Given the description of an element on the screen output the (x, y) to click on. 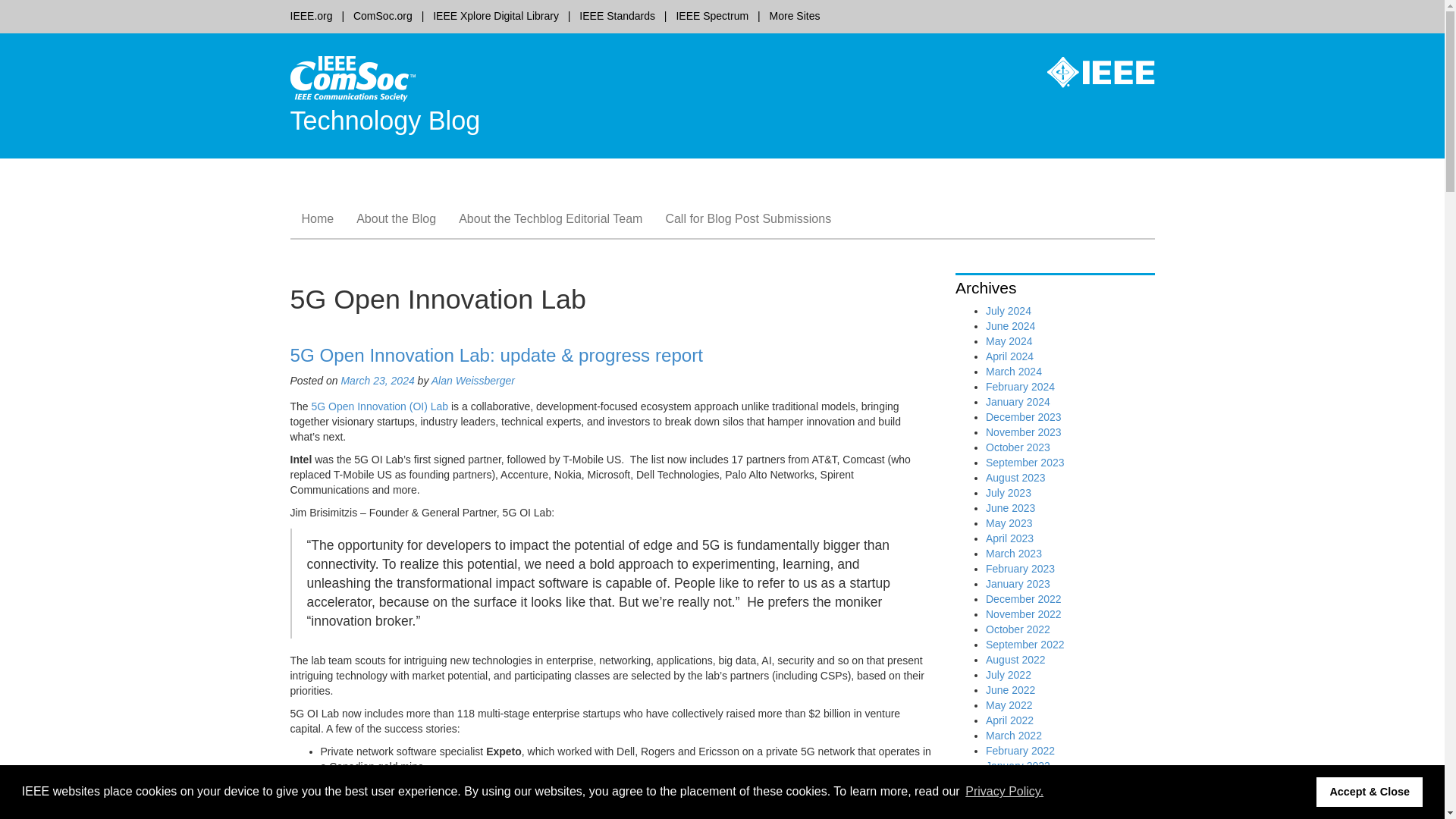
About the Techblog Editorial Team (549, 218)
December 2023 (1023, 417)
About the Blog (395, 218)
Home (317, 218)
March 23, 2024 (376, 380)
Call for Blog Post Submissions (748, 218)
November 2023 (1023, 431)
June 2024 (1010, 326)
ComSoc.org (382, 15)
More Sites (795, 15)
IEEE Spectrum (711, 15)
IEEE Standards (617, 15)
Technology Blog (384, 120)
May 2024 (1008, 340)
Technology Blog home (351, 77)
